Given the description of an element on the screen output the (x, y) to click on. 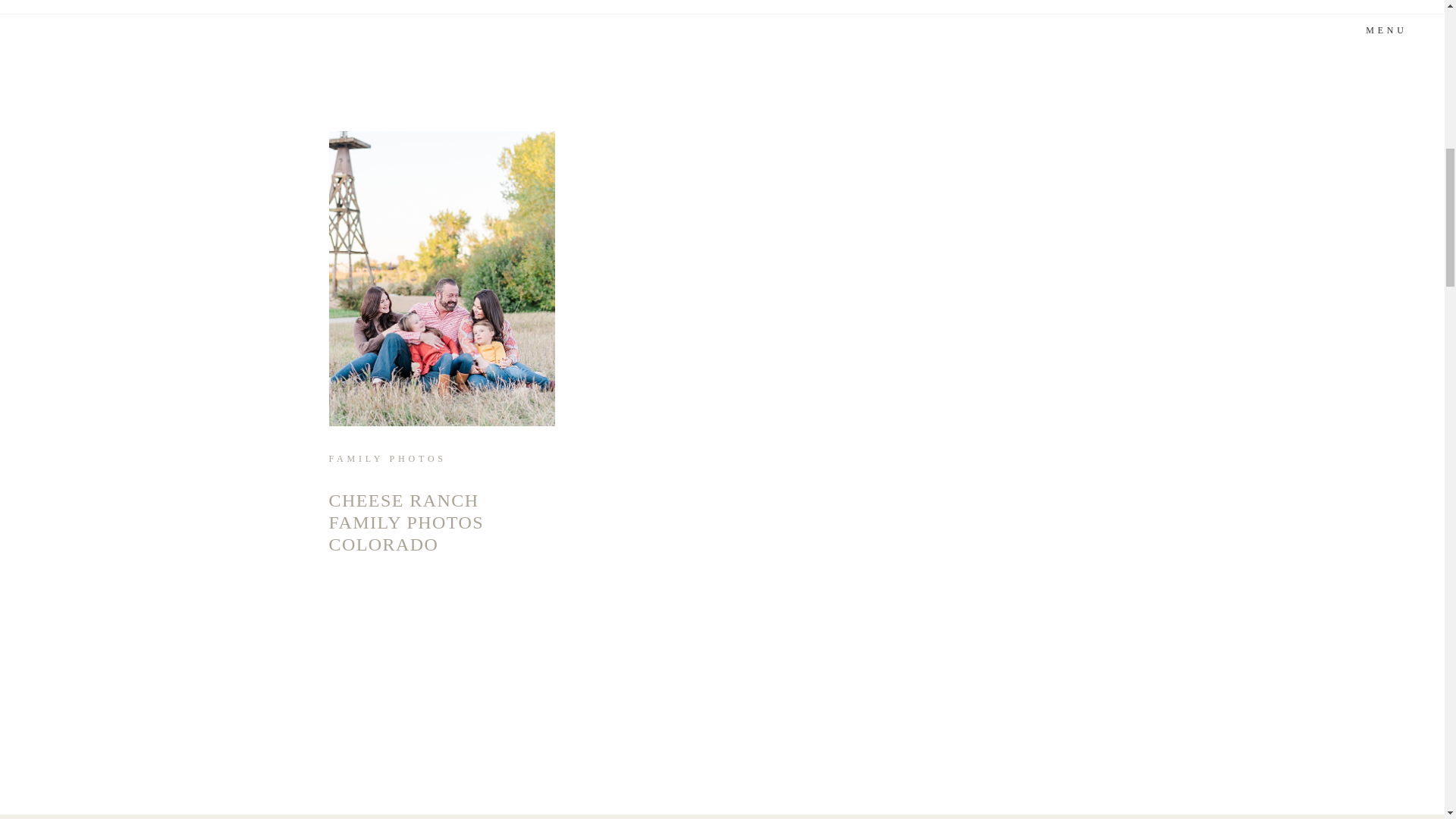
FAMILY PHOTOS (387, 458)
CHEESE RANCH FAMILY PHOTOS COLORADO (406, 522)
